Given the description of an element on the screen output the (x, y) to click on. 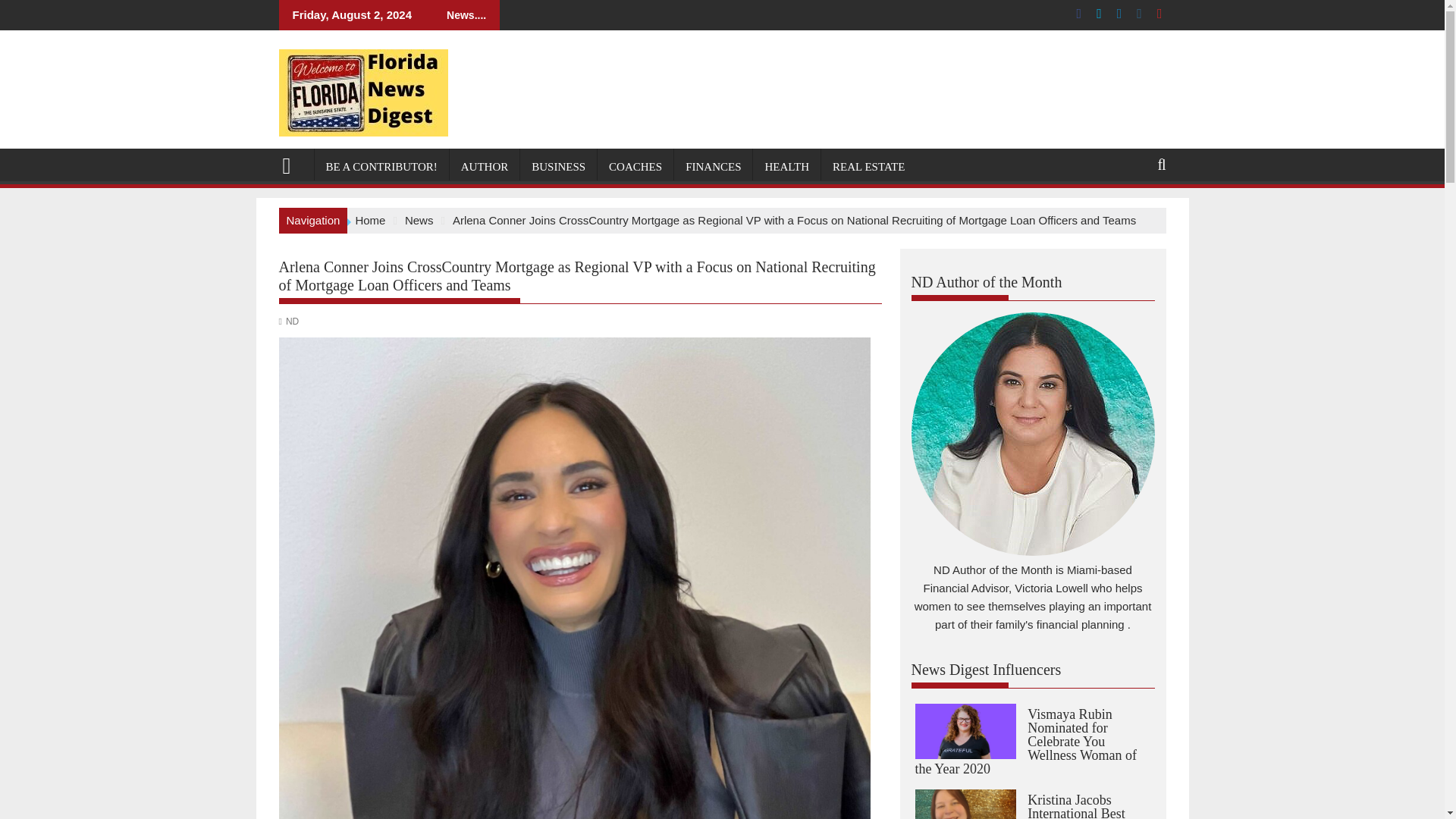
FINANCES (713, 166)
HEALTH (786, 166)
REAL ESTATE (868, 166)
Home (370, 220)
COACHES (634, 166)
ND (291, 321)
BE A CONTRIBUTOR! (381, 166)
AUTHOR (484, 166)
BUSINESS (557, 166)
News (418, 220)
News Digest (293, 163)
